Given the description of an element on the screen output the (x, y) to click on. 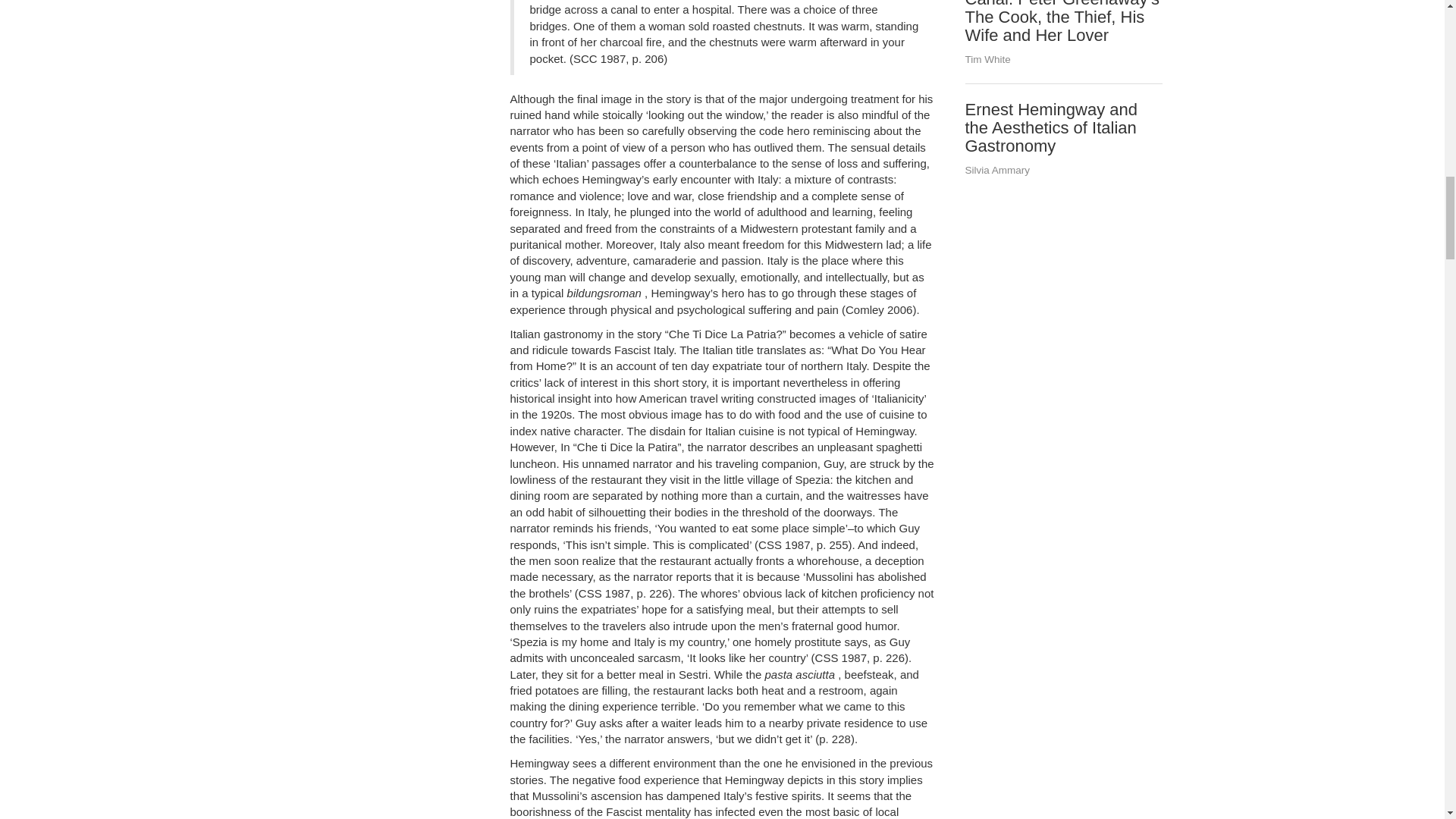
Ernest Hemingway and the Aesthetics of Italian Gastronomy (1050, 127)
